Given the description of an element on the screen output the (x, y) to click on. 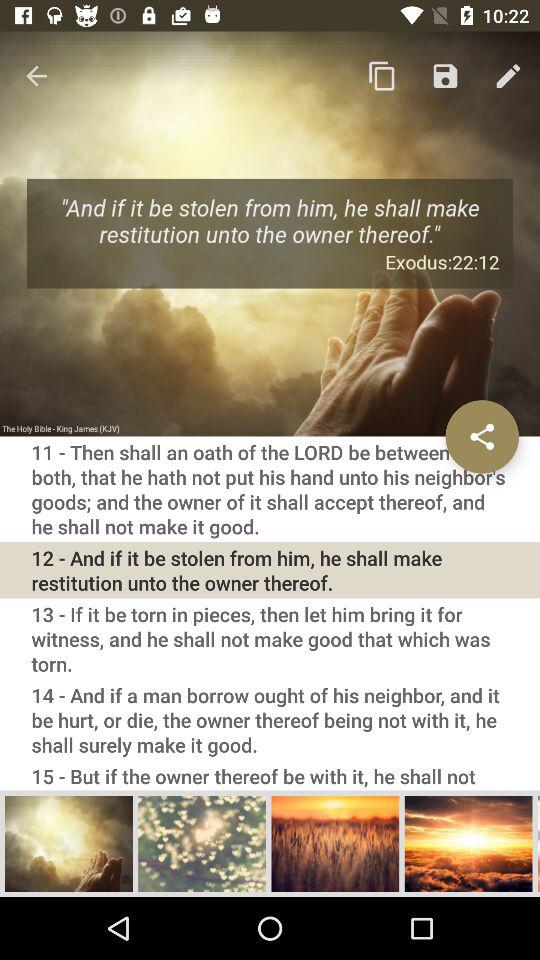
select one picture (69, 843)
